Given the description of an element on the screen output the (x, y) to click on. 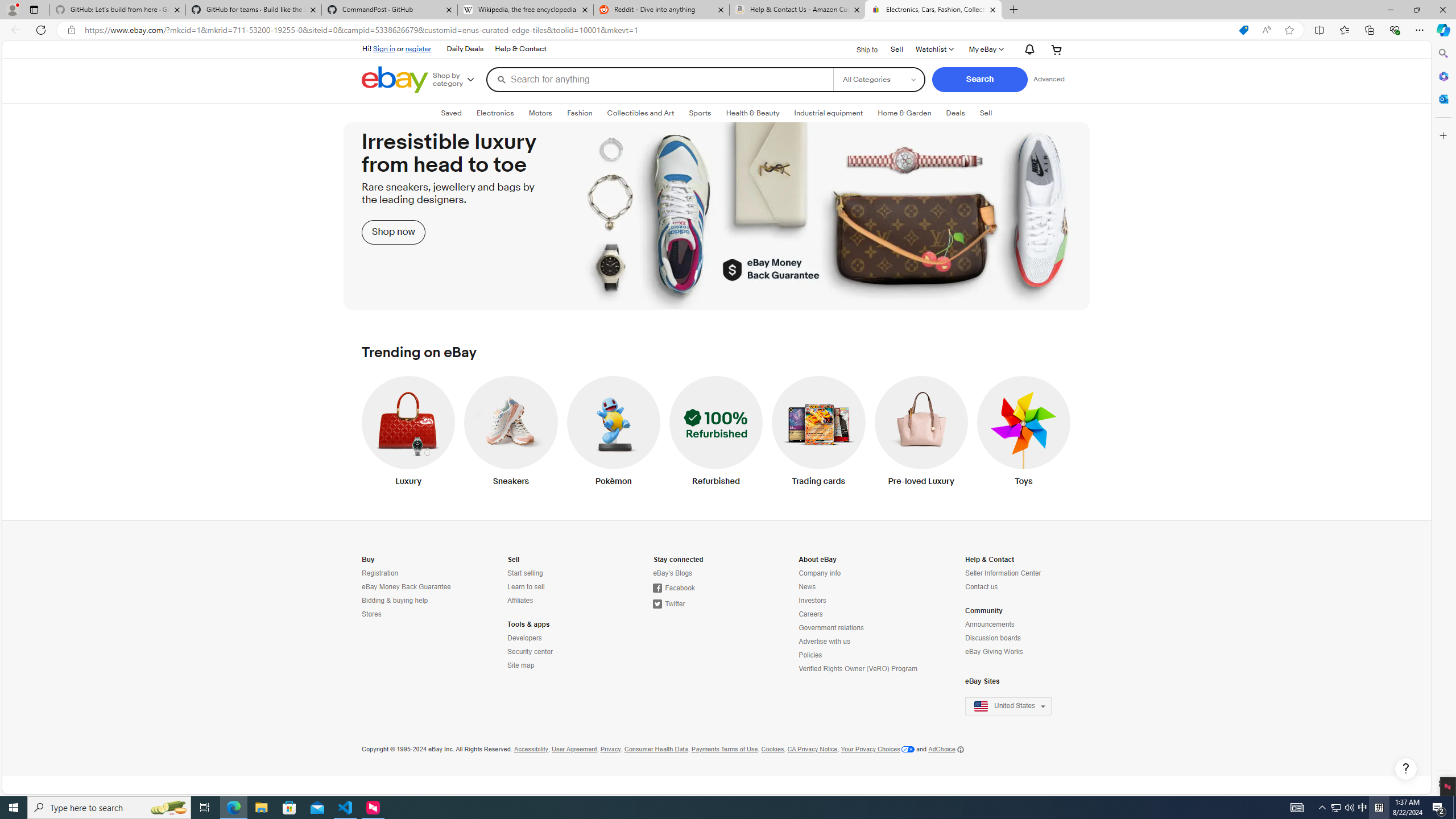
Shop by category (457, 79)
Cookies (772, 749)
Discussion boards (1015, 638)
Fashion (579, 112)
Bidding & buying help (412, 600)
AutomationID: gh-eb-Alerts (1027, 49)
Trading cards (818, 433)
Collectibles and ArtExpand: Collectibles and Art (640, 112)
Pre-loved Luxury (920, 433)
Accessibility (530, 749)
Refurbished (715, 433)
Industrial equipment (828, 112)
Facebook (673, 587)
